Given the description of an element on the screen output the (x, y) to click on. 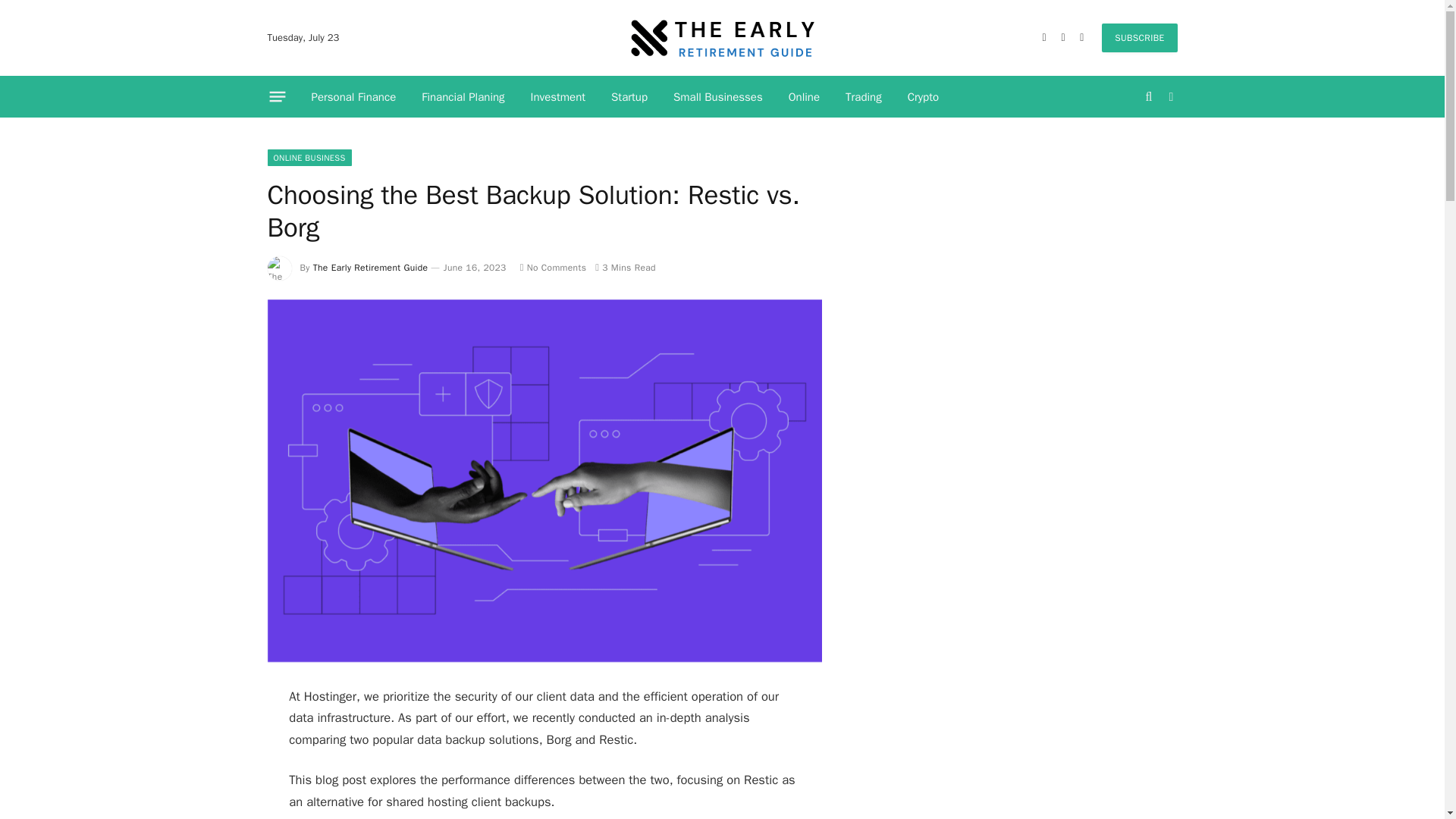
No Comments (552, 267)
SUBSCRIBE (1139, 37)
Small Businesses (718, 96)
Online (804, 96)
The Early Retirement Guide (721, 38)
The Early Retirement Guide (370, 267)
Trading (863, 96)
Financial Planing (462, 96)
Switch to Dark Design - easier on eyes. (1169, 96)
Personal Finance (353, 96)
ONLINE BUSINESS (308, 157)
Crypto (923, 96)
Investment (558, 96)
Posts by The Early Retirement Guide (370, 267)
